Given the description of an element on the screen output the (x, y) to click on. 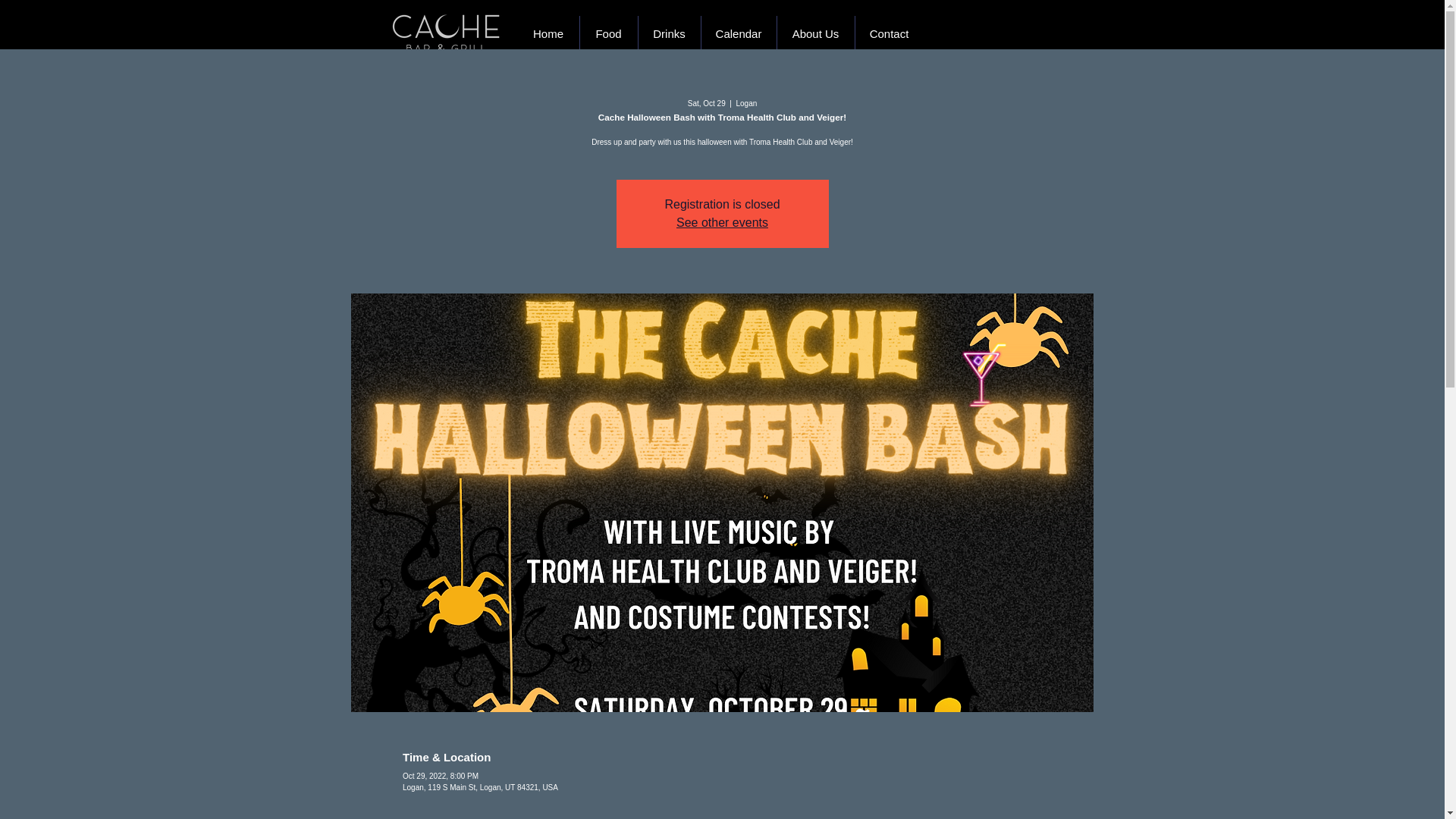
Calendar (738, 33)
Food (608, 33)
Contact (888, 33)
About Us (815, 33)
See other events (722, 222)
Home (547, 33)
Drinks (668, 33)
